Given the description of an element on the screen output the (x, y) to click on. 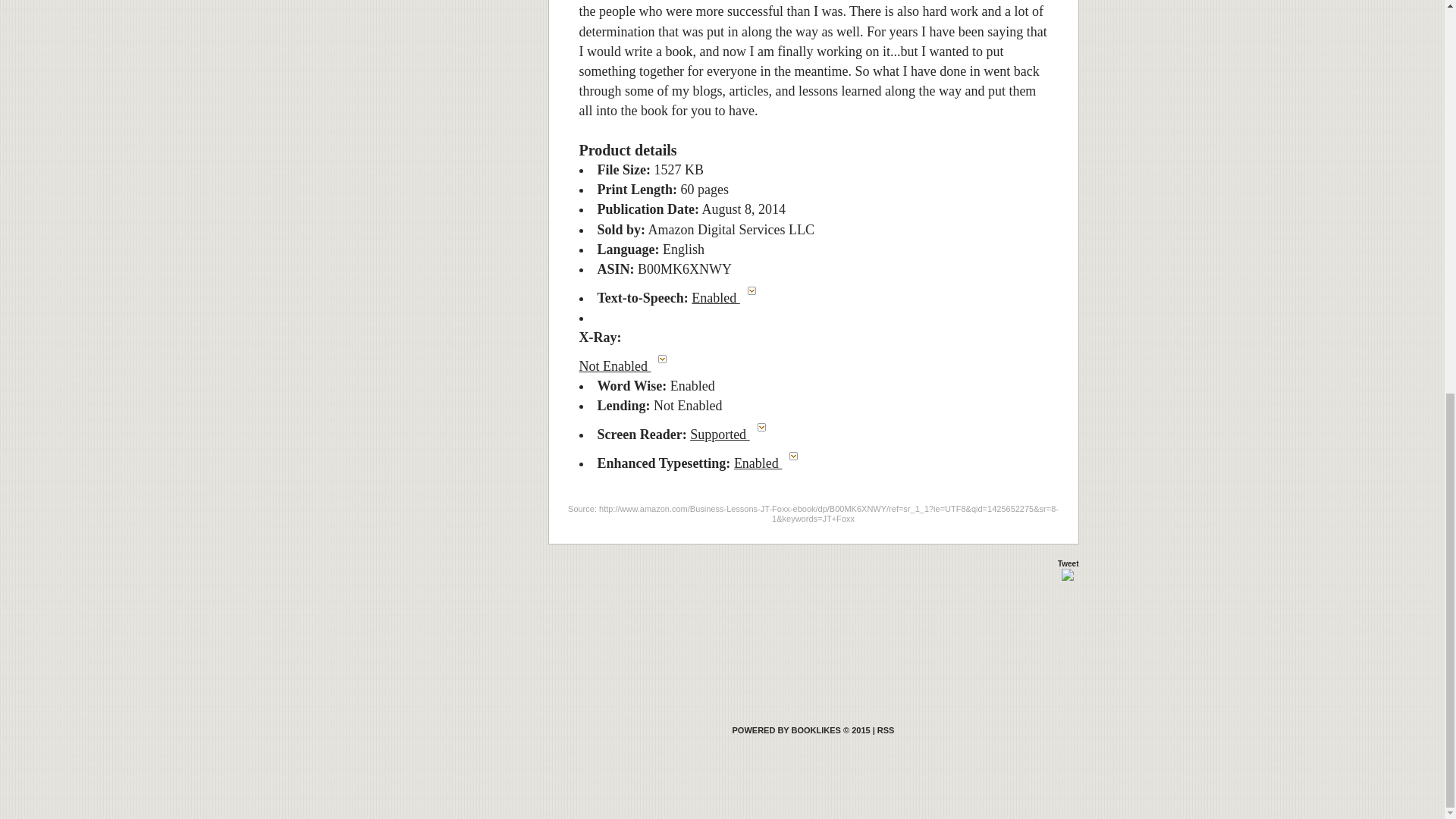
Not Enabled  (627, 365)
Tweet (1068, 563)
Enabled  (769, 462)
RSS (886, 729)
BookLikes (801, 729)
BookLikes (886, 729)
Supported  (731, 434)
Enabled  (726, 297)
